Given the description of an element on the screen output the (x, y) to click on. 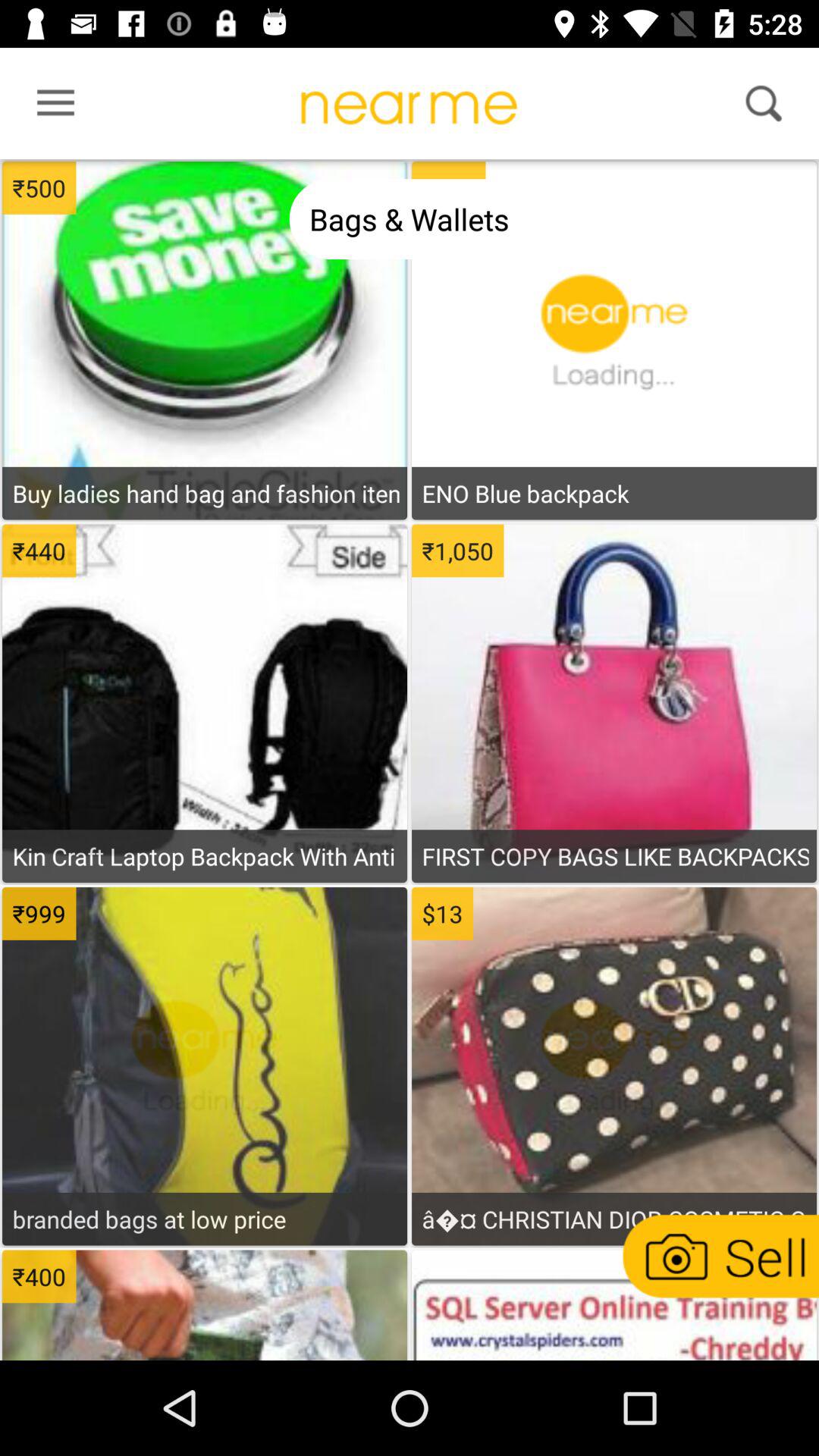
view purse (613, 1087)
